Given the description of an element on the screen output the (x, y) to click on. 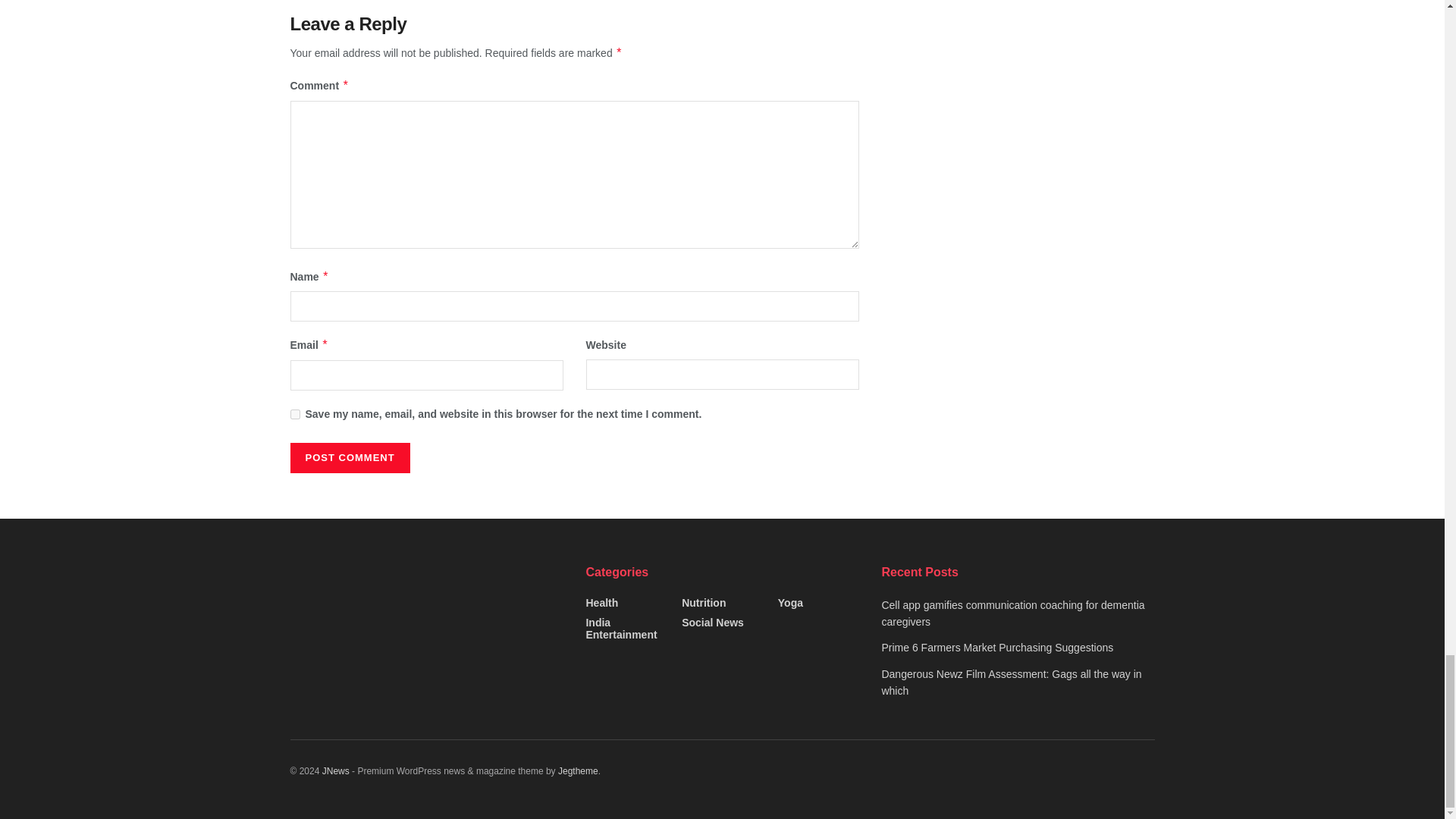
Jegtheme (577, 770)
Post Comment (349, 458)
yes (294, 414)
